Given the description of an element on the screen output the (x, y) to click on. 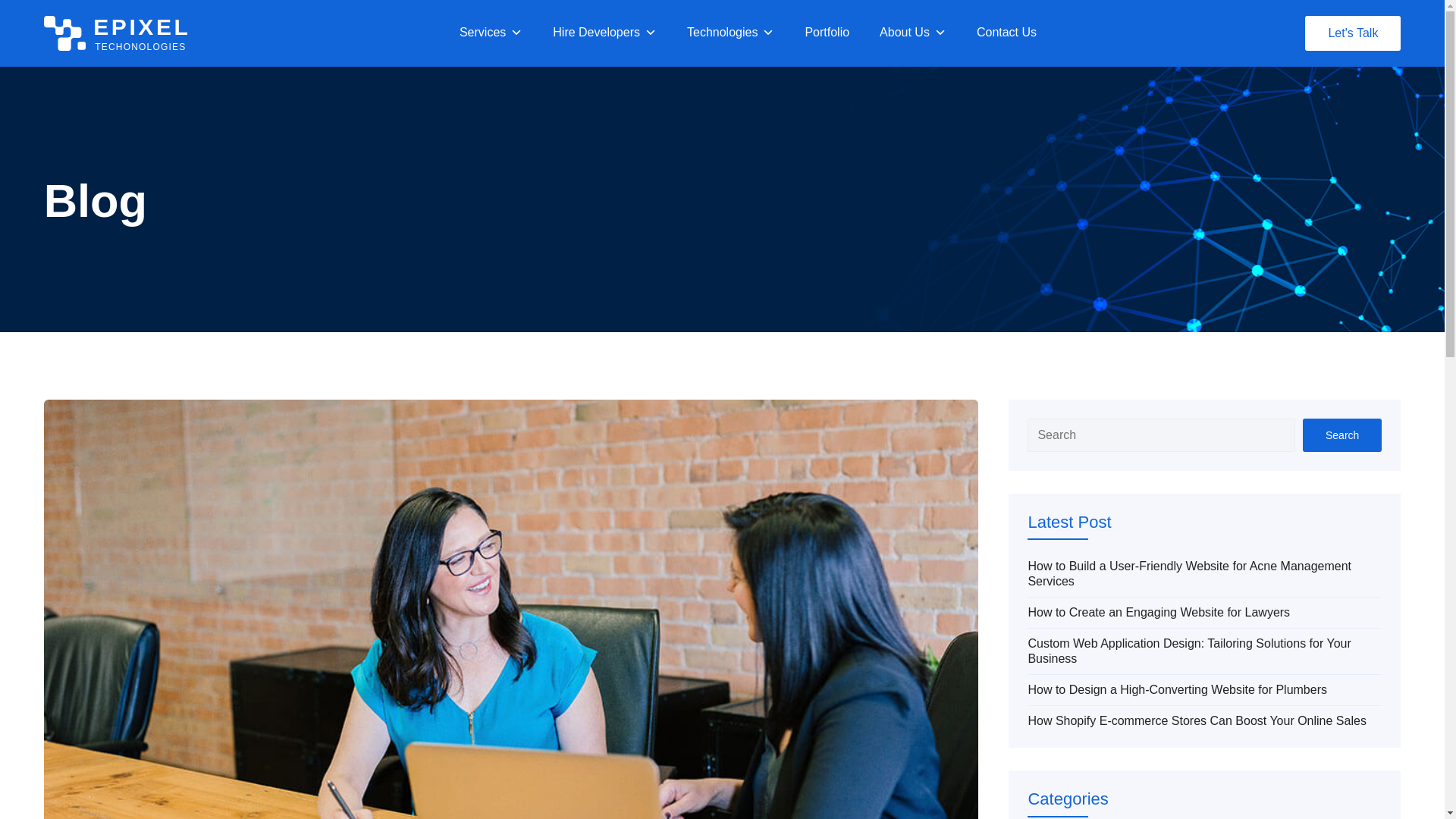
Services (116, 32)
Technologies (491, 33)
Hire Developers (730, 33)
